Given the description of an element on the screen output the (x, y) to click on. 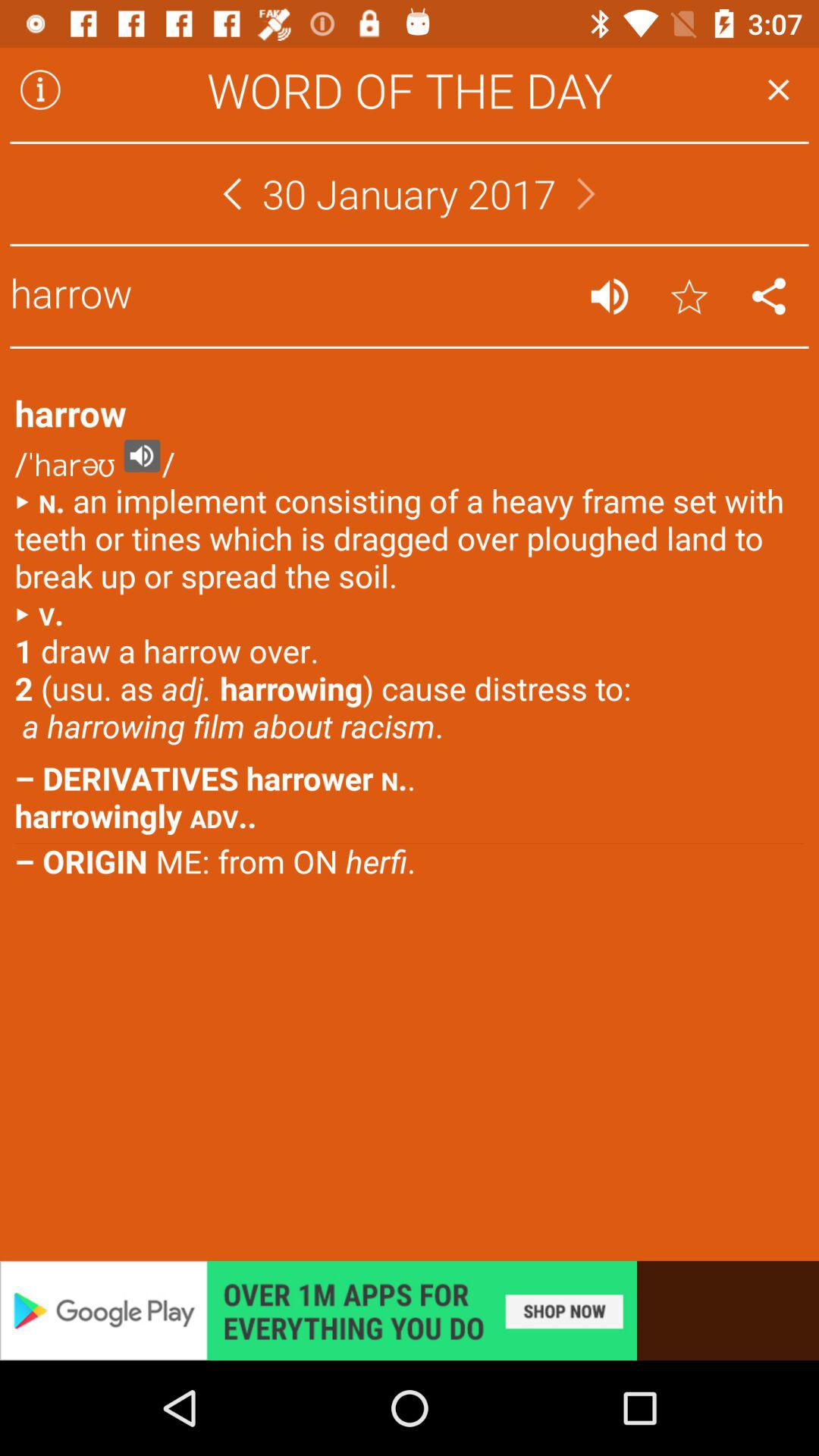
sound option (609, 296)
